Given the description of an element on the screen output the (x, y) to click on. 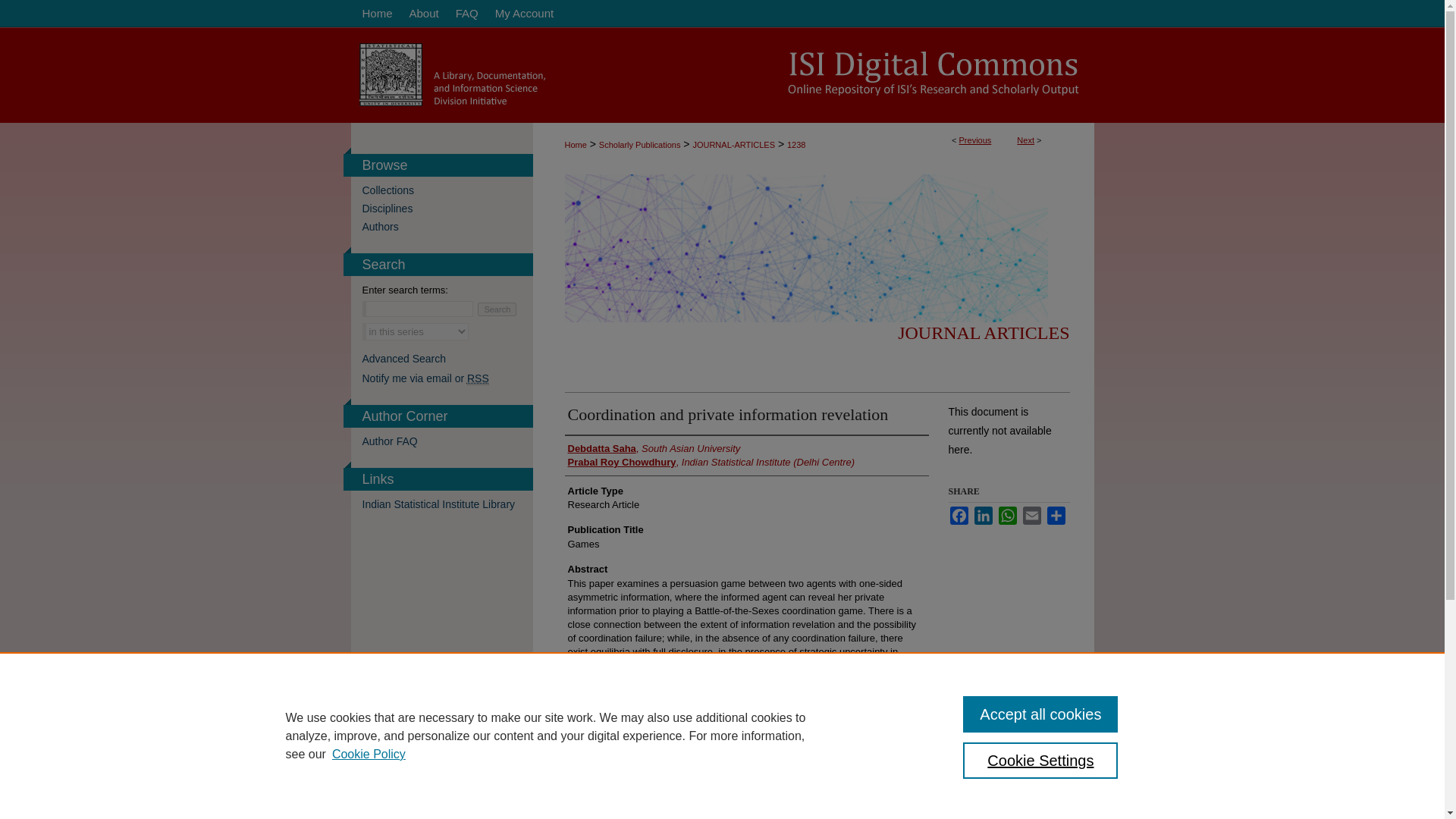
Search (496, 309)
JOURNAL ARTICLES (983, 332)
Email (1031, 515)
About (423, 13)
About (423, 13)
FAQ (466, 13)
Home (375, 13)
Author FAQ (447, 440)
Browse by Disciplines (447, 208)
Authors (447, 226)
Scholarly Publications (639, 144)
My Account (524, 13)
Home (575, 144)
Facebook (958, 515)
Indian Statistical Institute Library (447, 503)
